Given the description of an element on the screen output the (x, y) to click on. 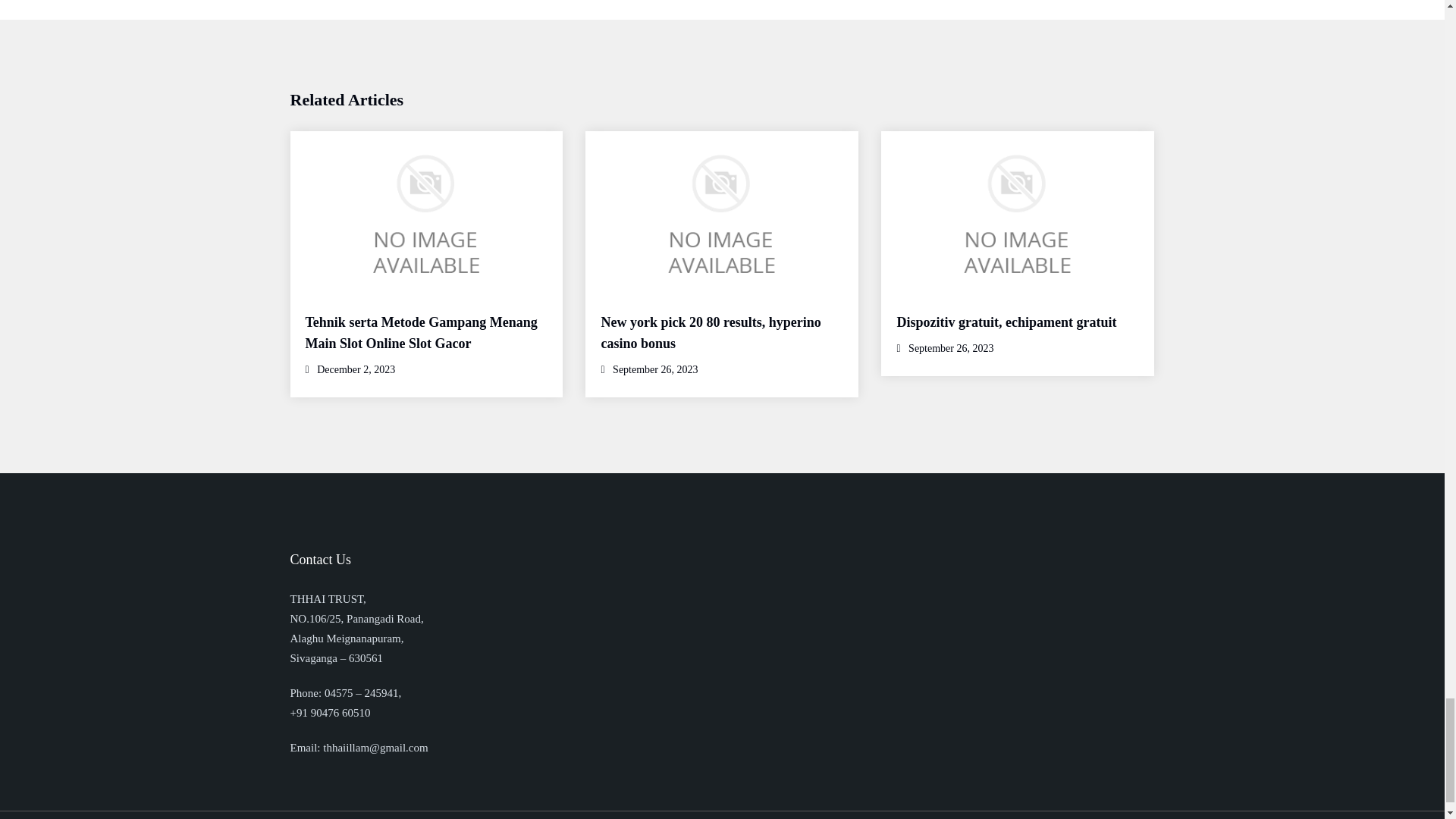
New york pick 20 80 results, hyperino casino bonus (710, 332)
New york pick 20 80 results, hyperino casino bonus (710, 332)
Dispozitiv gratuit, echipament gratuit (1006, 322)
Dispozitiv gratuit, echipament gratuit (1006, 322)
